Given the description of an element on the screen output the (x, y) to click on. 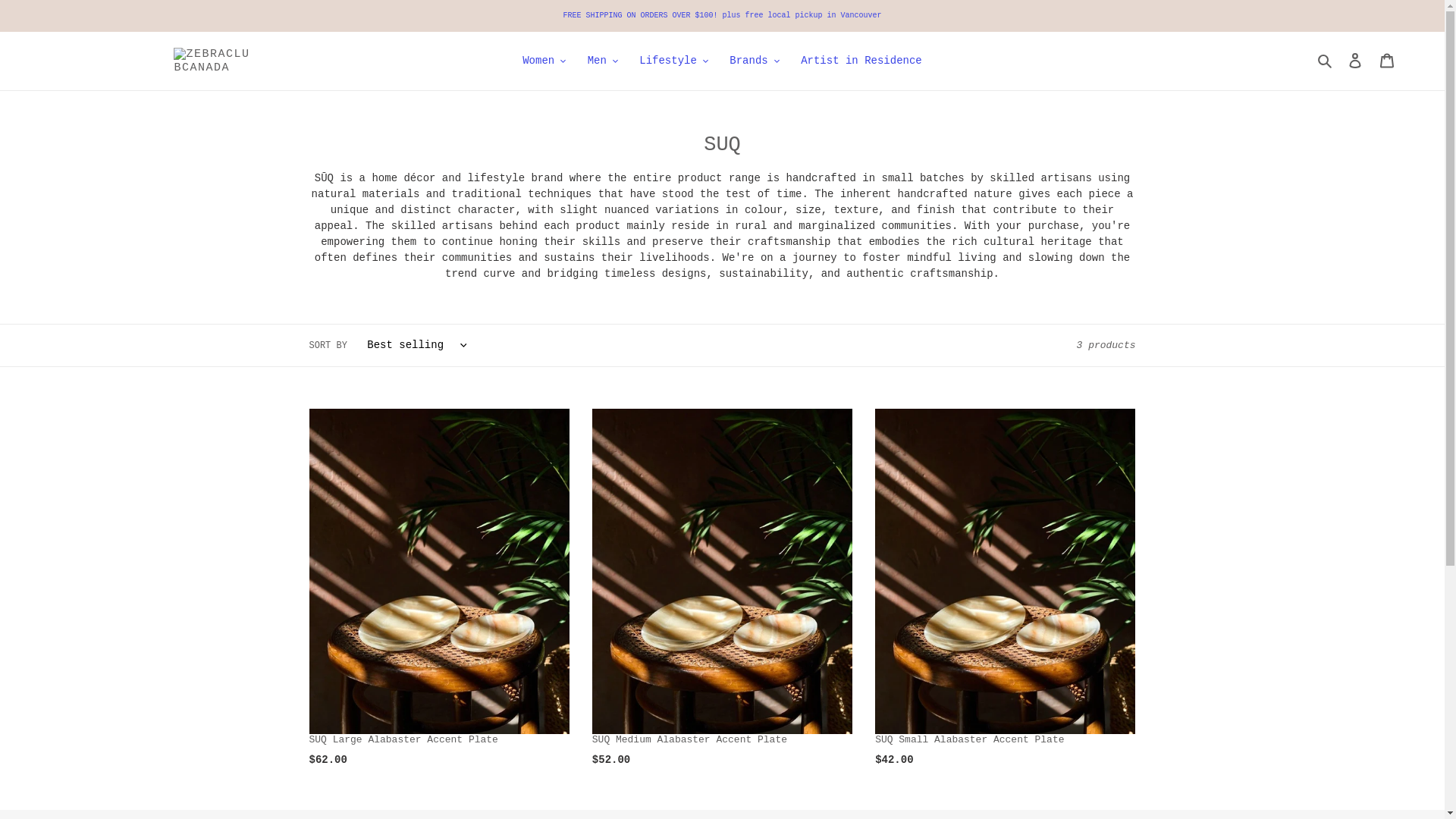
Women (544, 60)
Men (602, 60)
